Given the description of an element on the screen output the (x, y) to click on. 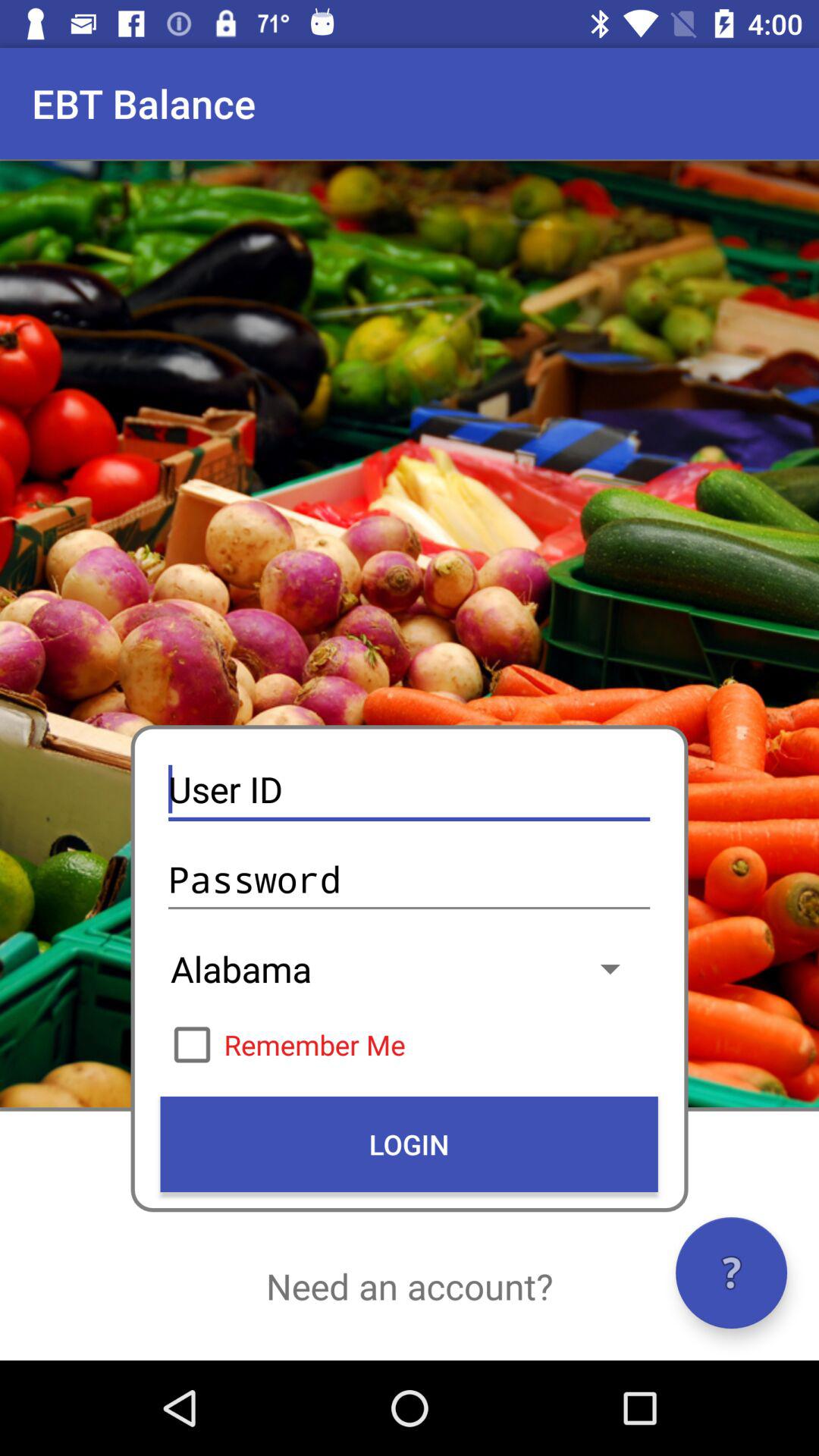
turn on item above alabama (409, 879)
